Given the description of an element on the screen output the (x, y) to click on. 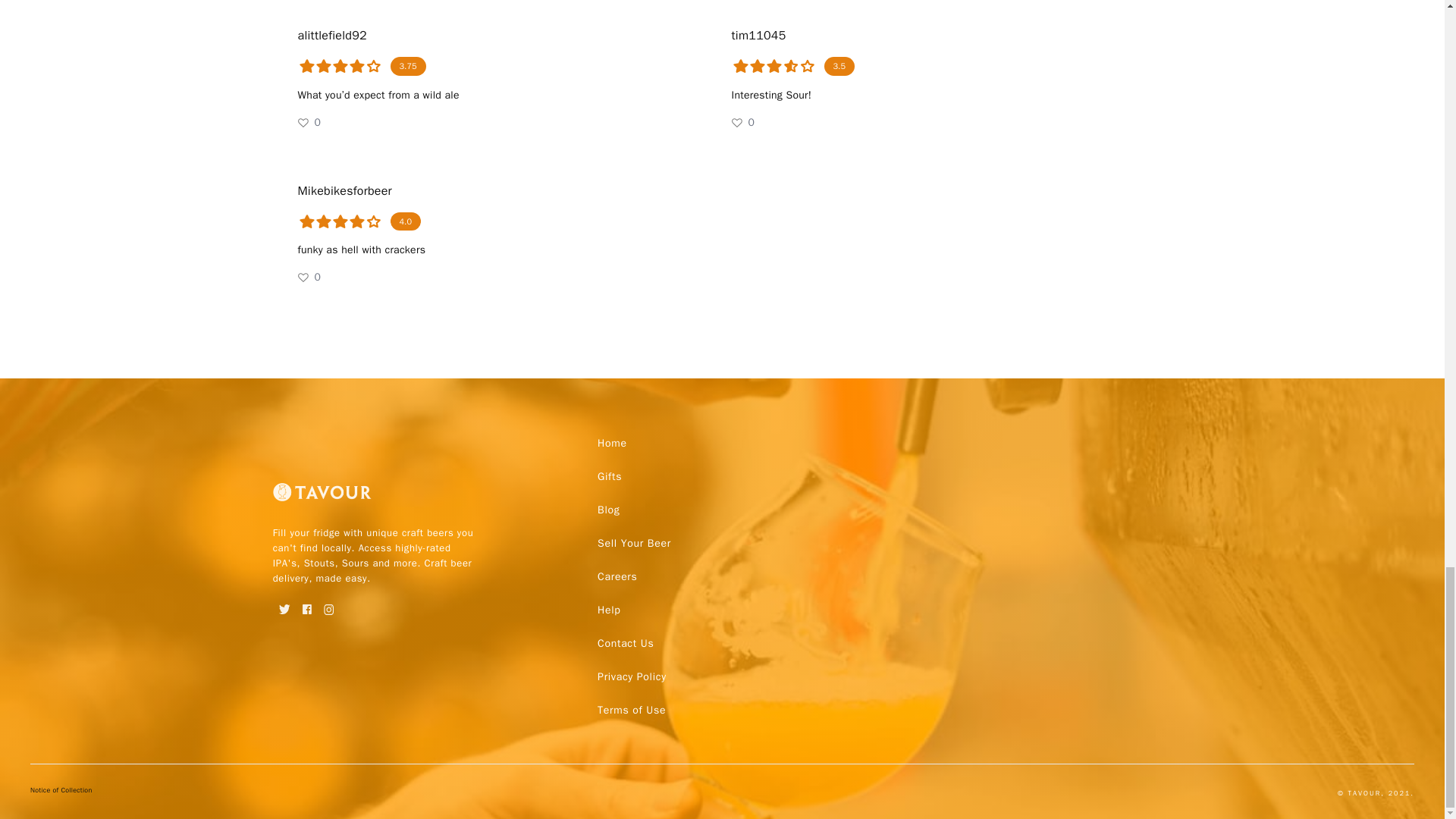
Careers (617, 576)
Privacy Policy (631, 676)
FAQ (631, 676)
Help (608, 610)
sell your beer (633, 543)
Sell Your Beer (633, 543)
Contact Us (625, 643)
Careers (617, 576)
Facebook (307, 604)
FAQ (625, 643)
